Given the description of an element on the screen output the (x, y) to click on. 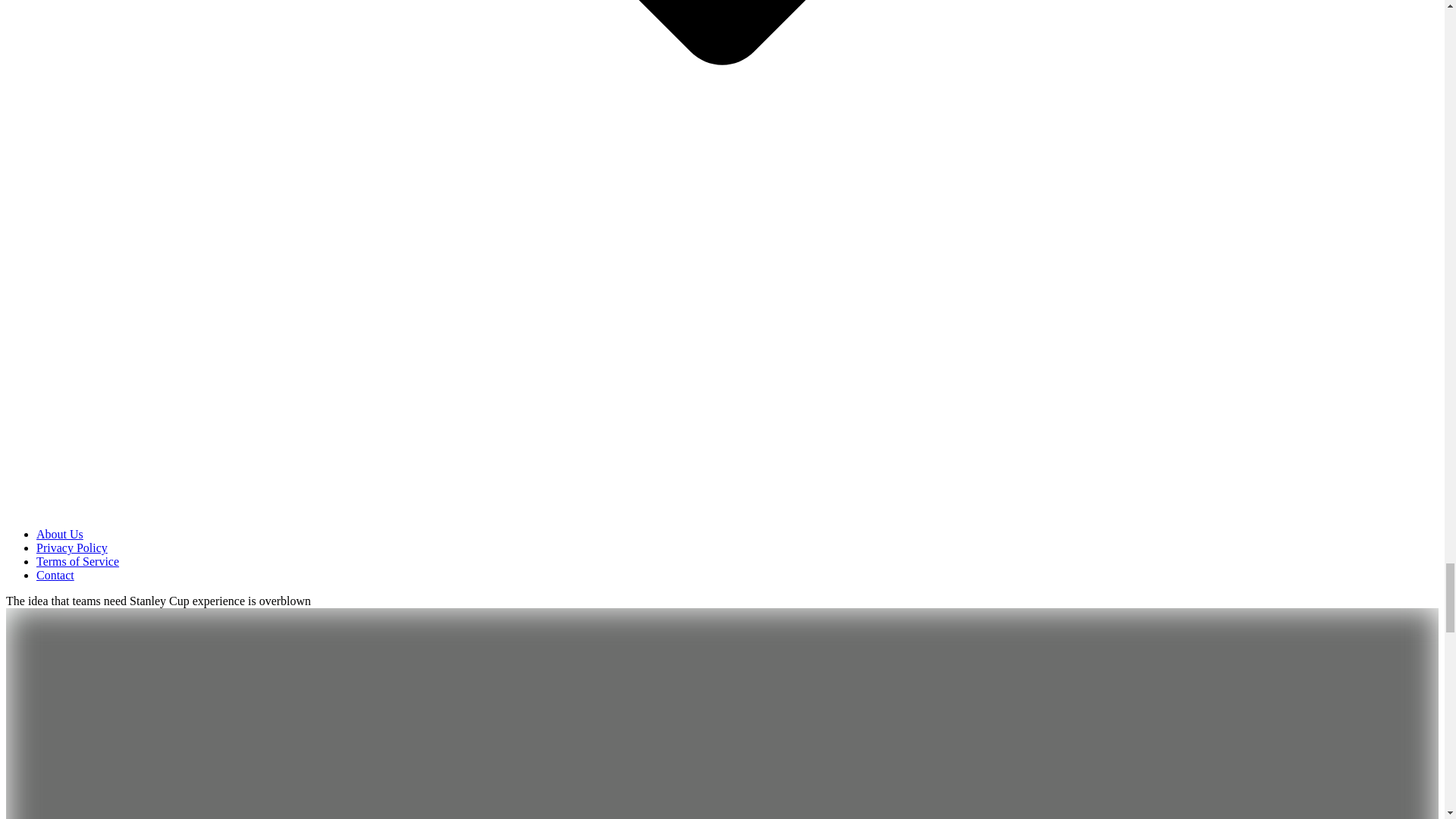
Privacy Policy (71, 547)
About Us (59, 533)
Contact (55, 574)
Terms of Service (77, 561)
